Given the description of an element on the screen output the (x, y) to click on. 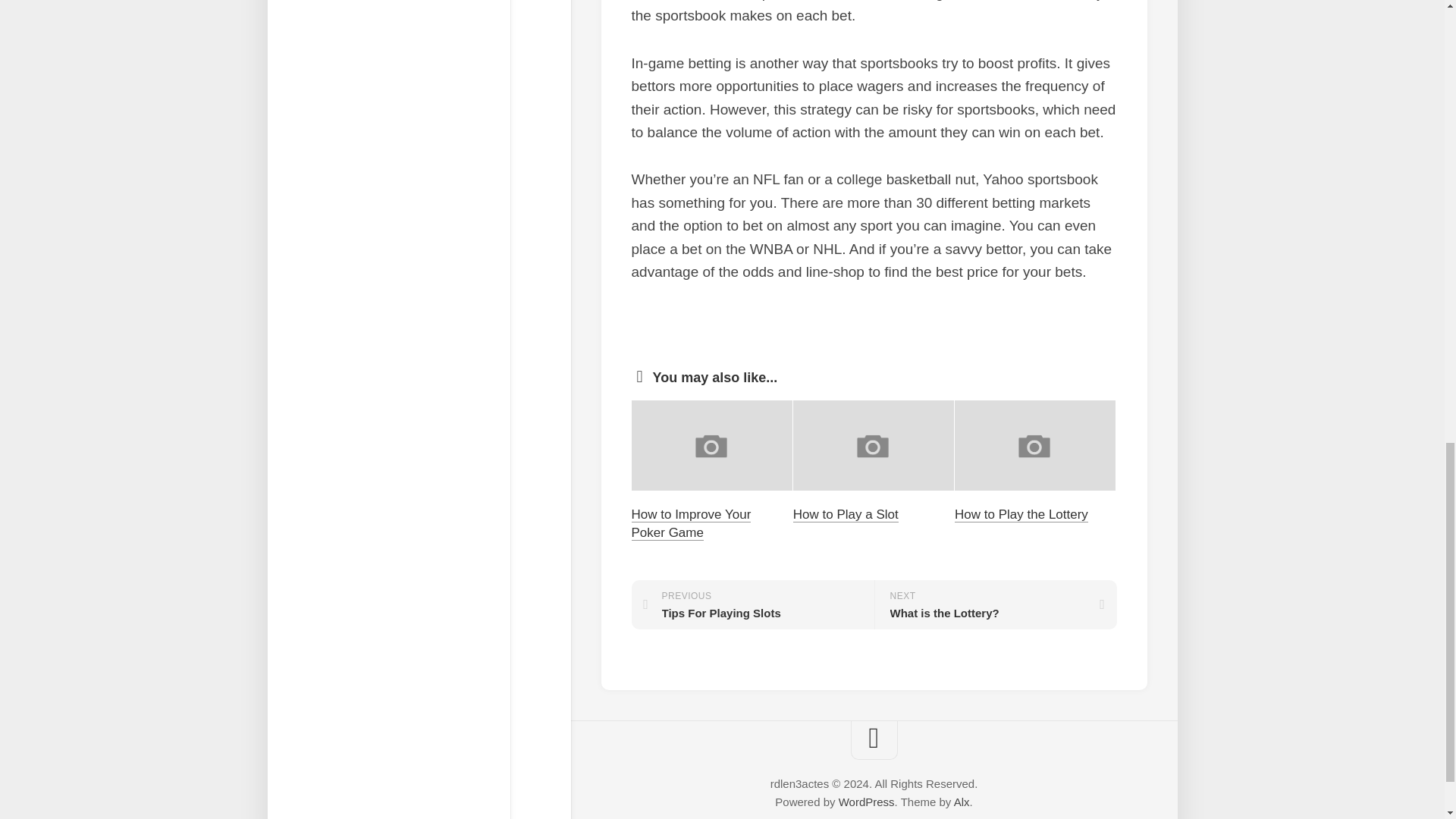
WordPress (866, 801)
How to Improve Your Poker Game (690, 522)
How to Play a Slot (845, 513)
Alx (751, 604)
How to Play the Lottery (961, 801)
